Given the description of an element on the screen output the (x, y) to click on. 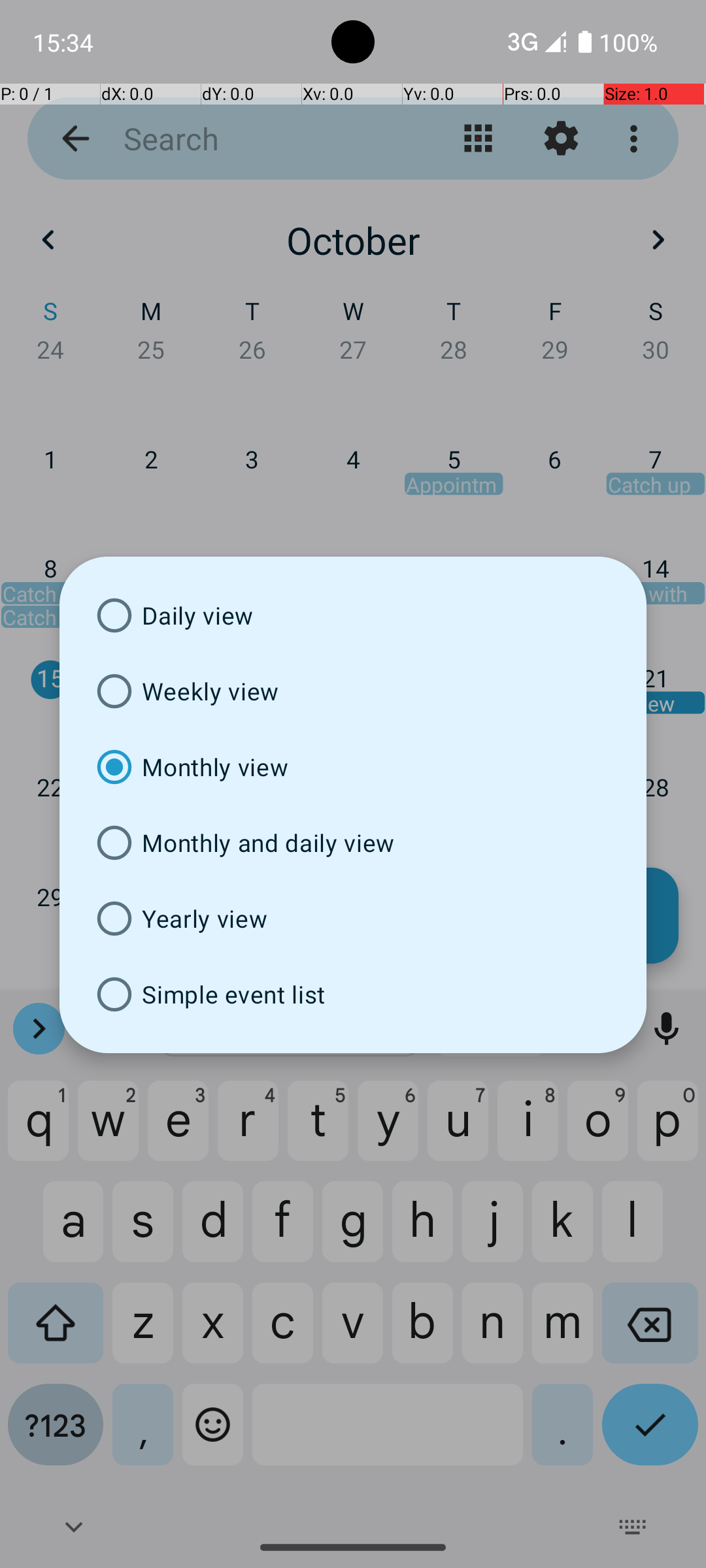
Daily view Element type: android.widget.RadioButton (352, 615)
Weekly view Element type: android.widget.RadioButton (352, 691)
Monthly view Element type: android.widget.RadioButton (352, 766)
Monthly and daily view Element type: android.widget.RadioButton (352, 842)
Yearly view Element type: android.widget.RadioButton (352, 918)
Simple event list Element type: android.widget.RadioButton (352, 994)
